Given the description of an element on the screen output the (x, y) to click on. 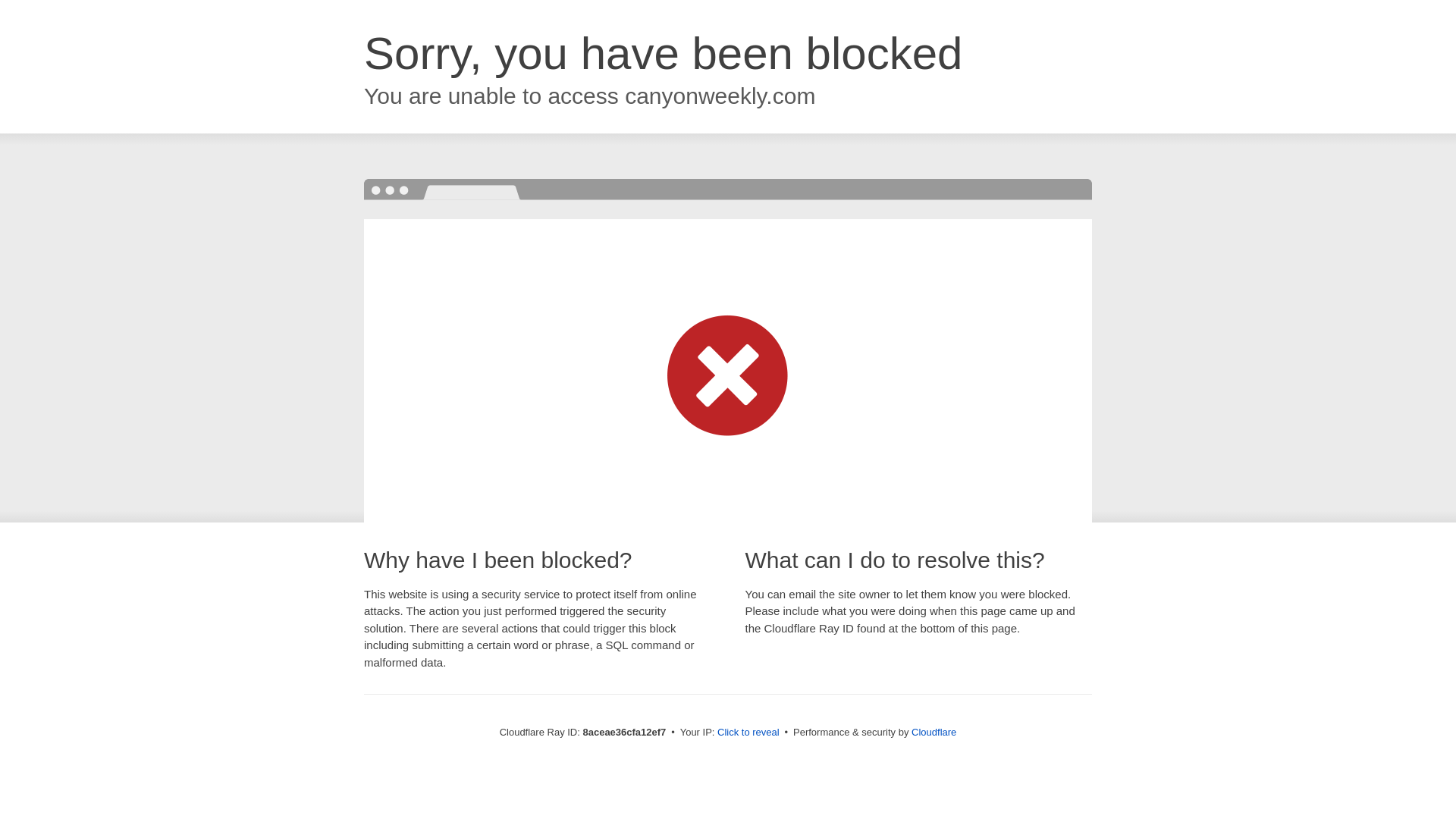
Cloudflare (933, 731)
Click to reveal (747, 732)
